Given the description of an element on the screen output the (x, y) to click on. 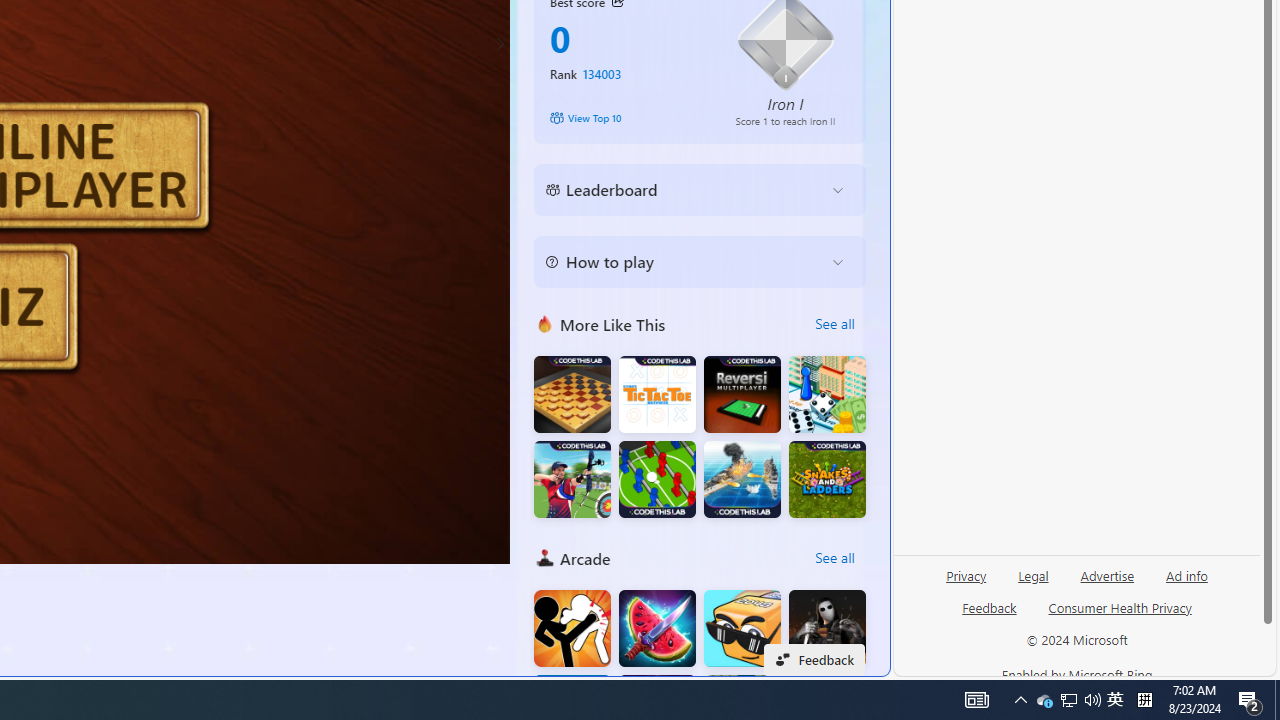
google_privacy_policy_zh-CN.pdf (687, 482)
Hunter Hitman (827, 628)
Reversi (742, 394)
Ultimate Tic Tac Toe (657, 394)
More Like This (544, 323)
Foosball (657, 479)
Consumer Health Privacy (1119, 615)
Arcade (544, 557)
Stickman Fighter : Mega Brawl (571, 628)
